Given the description of an element on the screen output the (x, y) to click on. 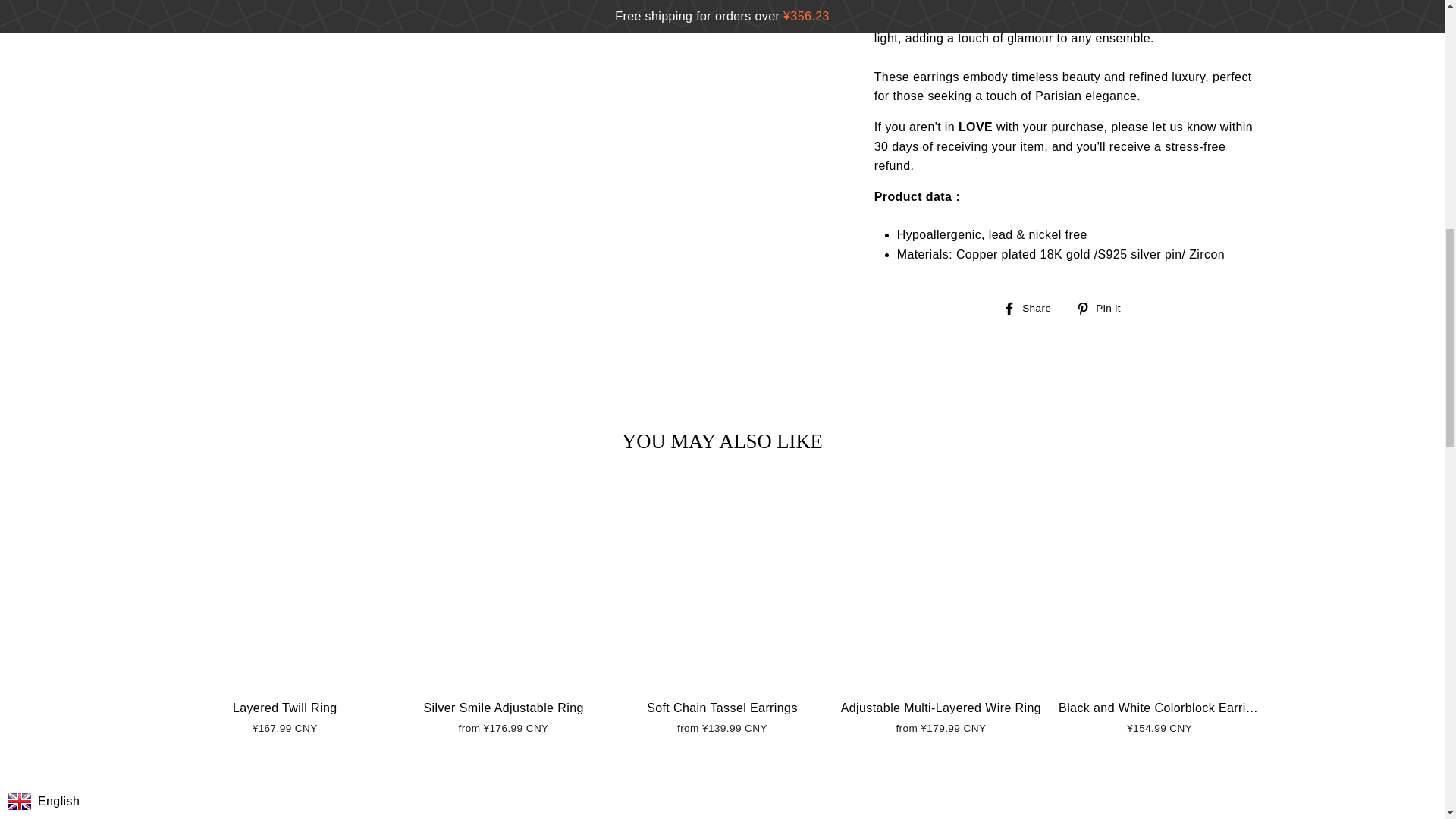
Pin on Pinterest (1103, 307)
Share on Facebook (1032, 307)
